Given the description of an element on the screen output the (x, y) to click on. 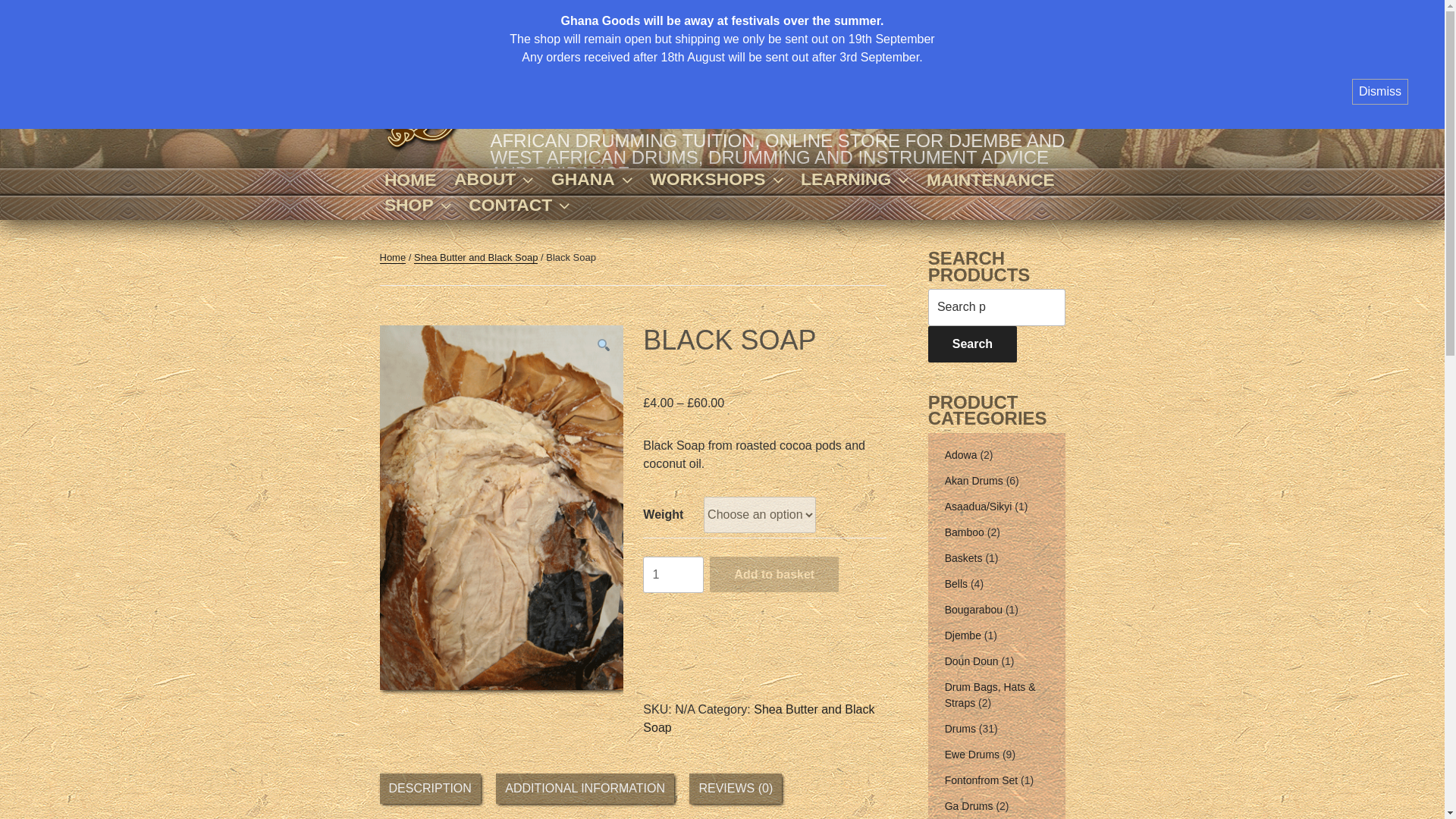
ABOUT (492, 181)
WORKSHOPS (716, 181)
PayPal (764, 669)
1 (673, 574)
PayPal Message 1 (764, 605)
HOME (409, 179)
GHANA (591, 181)
